Given the description of an element on the screen output the (x, y) to click on. 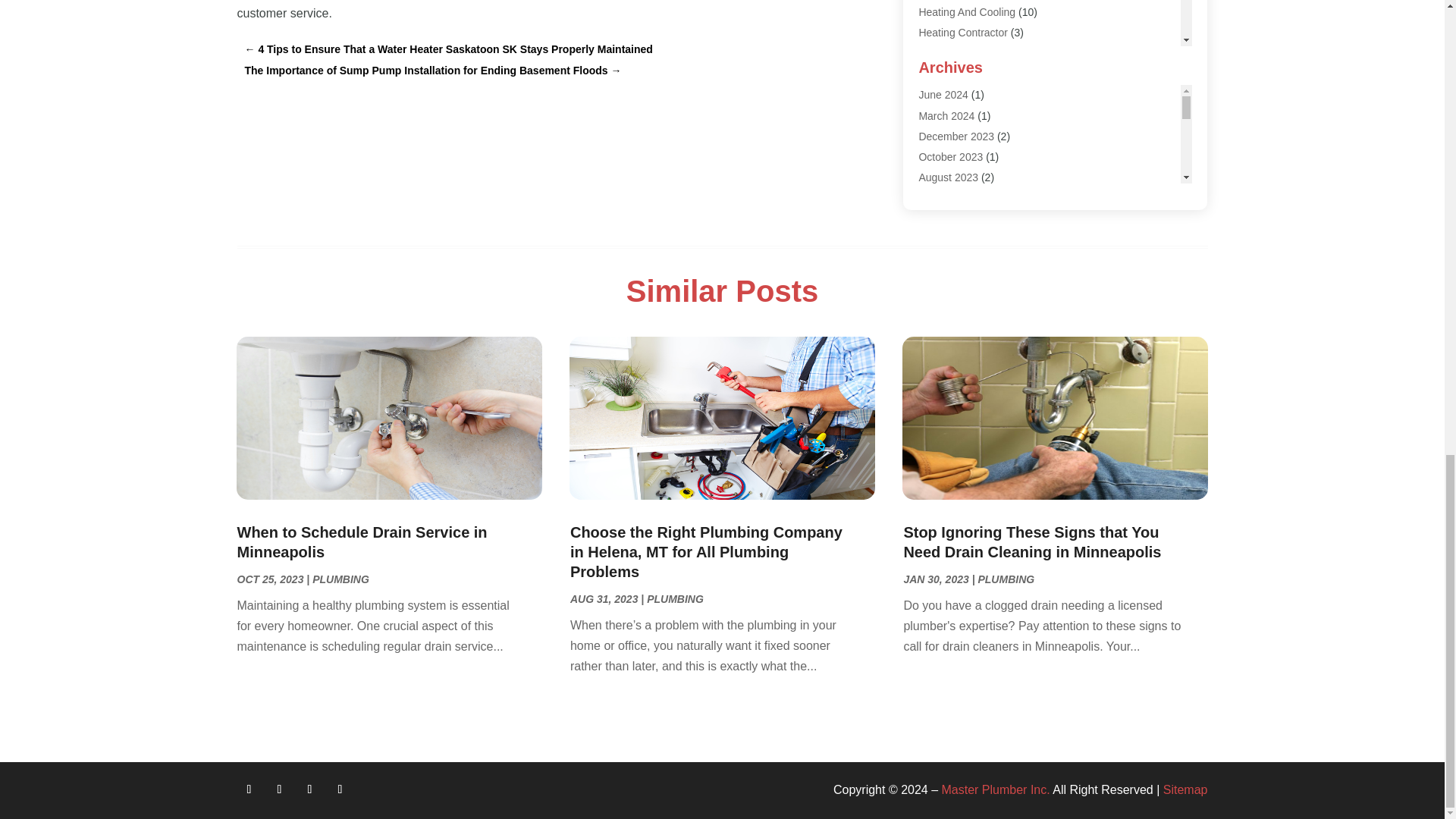
Follow on Youtube (339, 789)
Sewage (937, 218)
Sewer Hookup, Installation And Repair (1009, 238)
Pipe Repair And Replacement (989, 94)
Materials And Supplies (972, 73)
Heating Contractor (962, 32)
Heating And Cooling (966, 11)
Septic Tank System (964, 197)
Sewer Services (954, 259)
HVAC (932, 52)
